Given the description of an element on the screen output the (x, y) to click on. 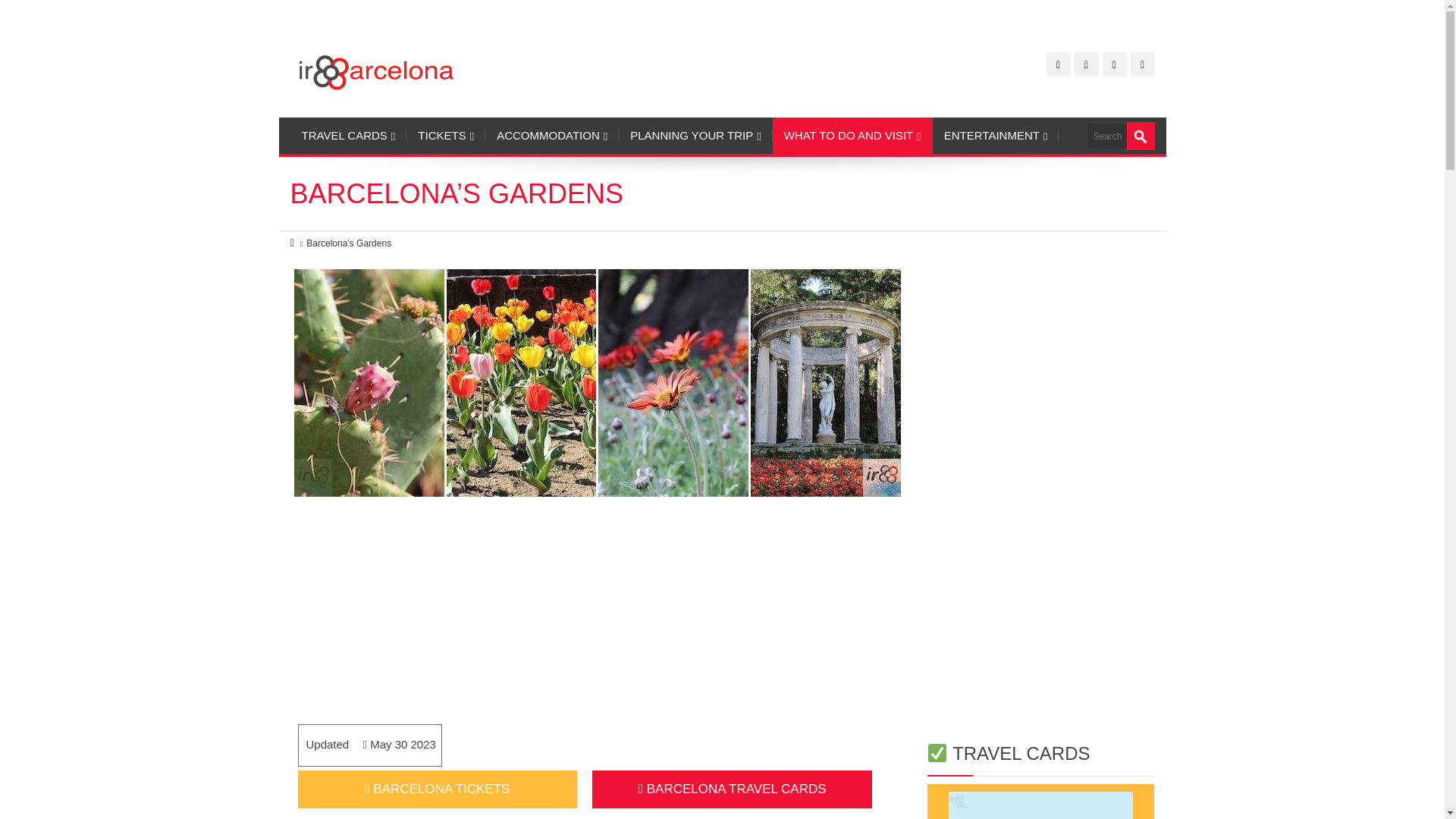
Ir Barcelona (375, 69)
